Given the description of an element on the screen output the (x, y) to click on. 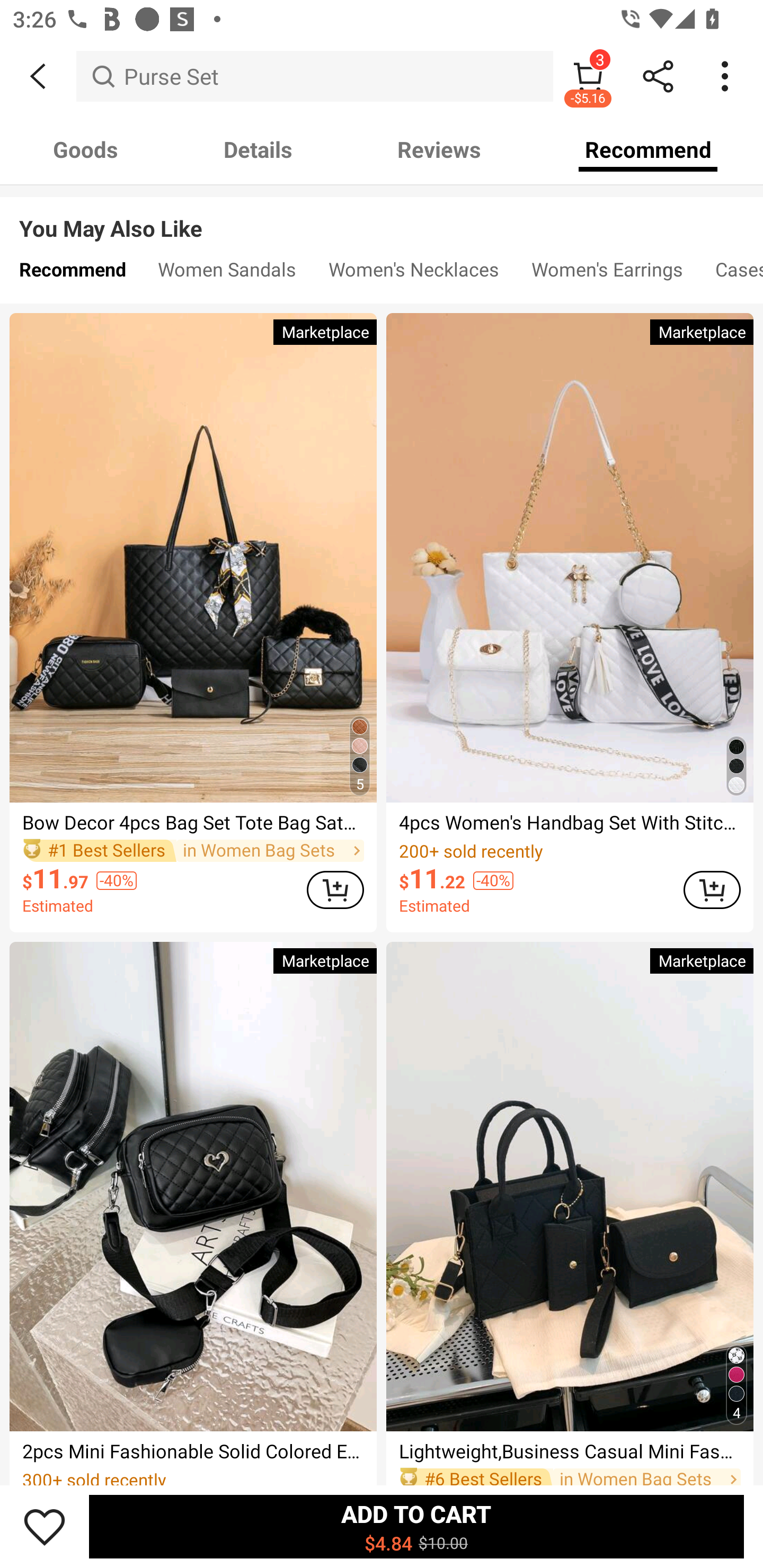
BACK (38, 75)
3 -$5.16 (588, 75)
Purse Set (314, 75)
Goods (85, 149)
Details (257, 149)
Reviews (439, 149)
Recommend (648, 149)
You May Also Like (381, 215)
Recommend (72, 273)
Women Sandals (226, 273)
Women's Earrings (607, 273)
#1 Best Sellers in Women Bag Sets (192, 850)
ADD TO CART (334, 889)
ADD TO CART (711, 889)
#6 Best Sellers in Women Bag Sets (569, 1475)
ADD TO CART $4.84 $10.00 (416, 1526)
Save (44, 1526)
